Given the description of an element on the screen output the (x, y) to click on. 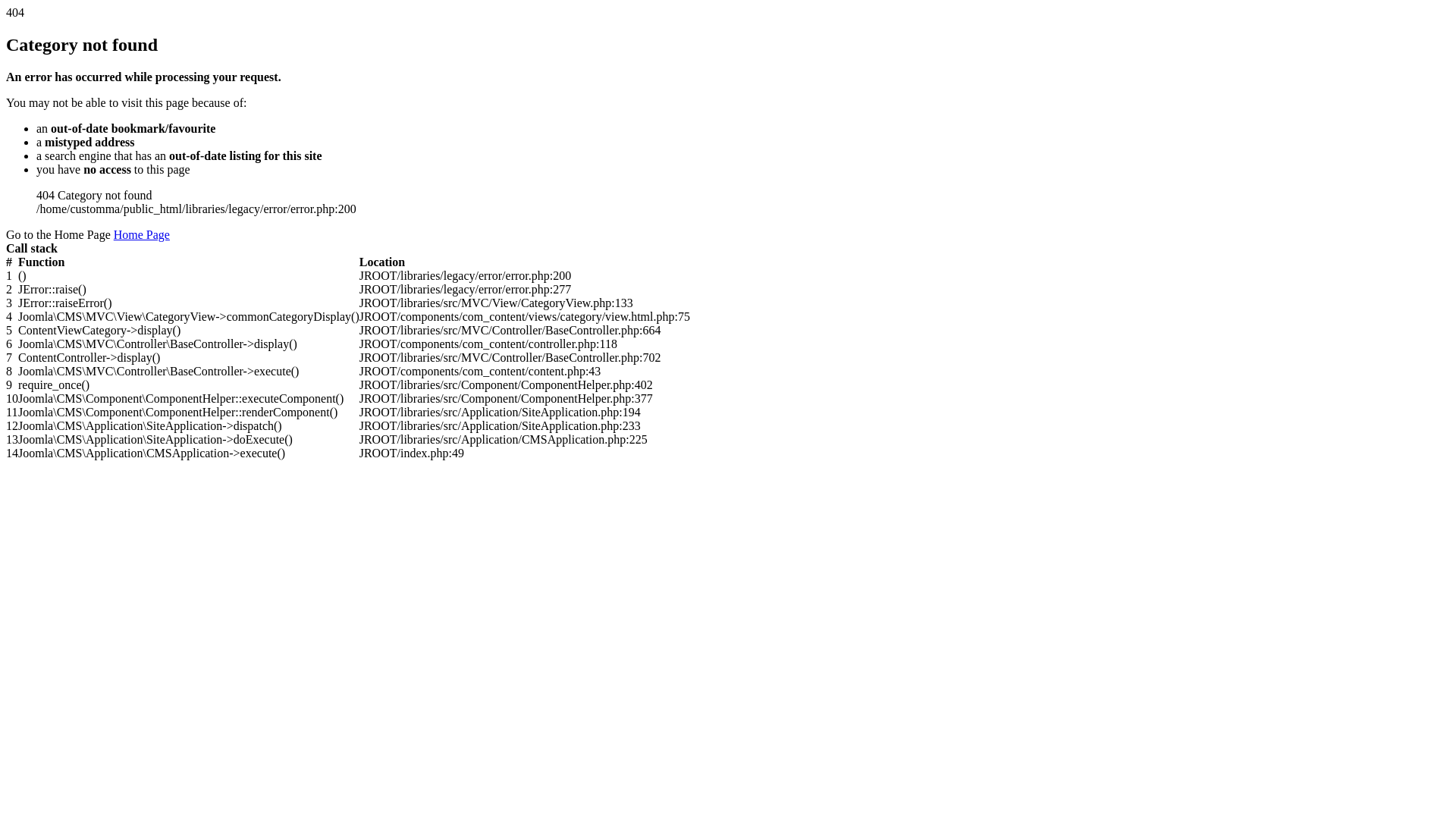
Home Page Element type: text (141, 234)
